Given the description of an element on the screen output the (x, y) to click on. 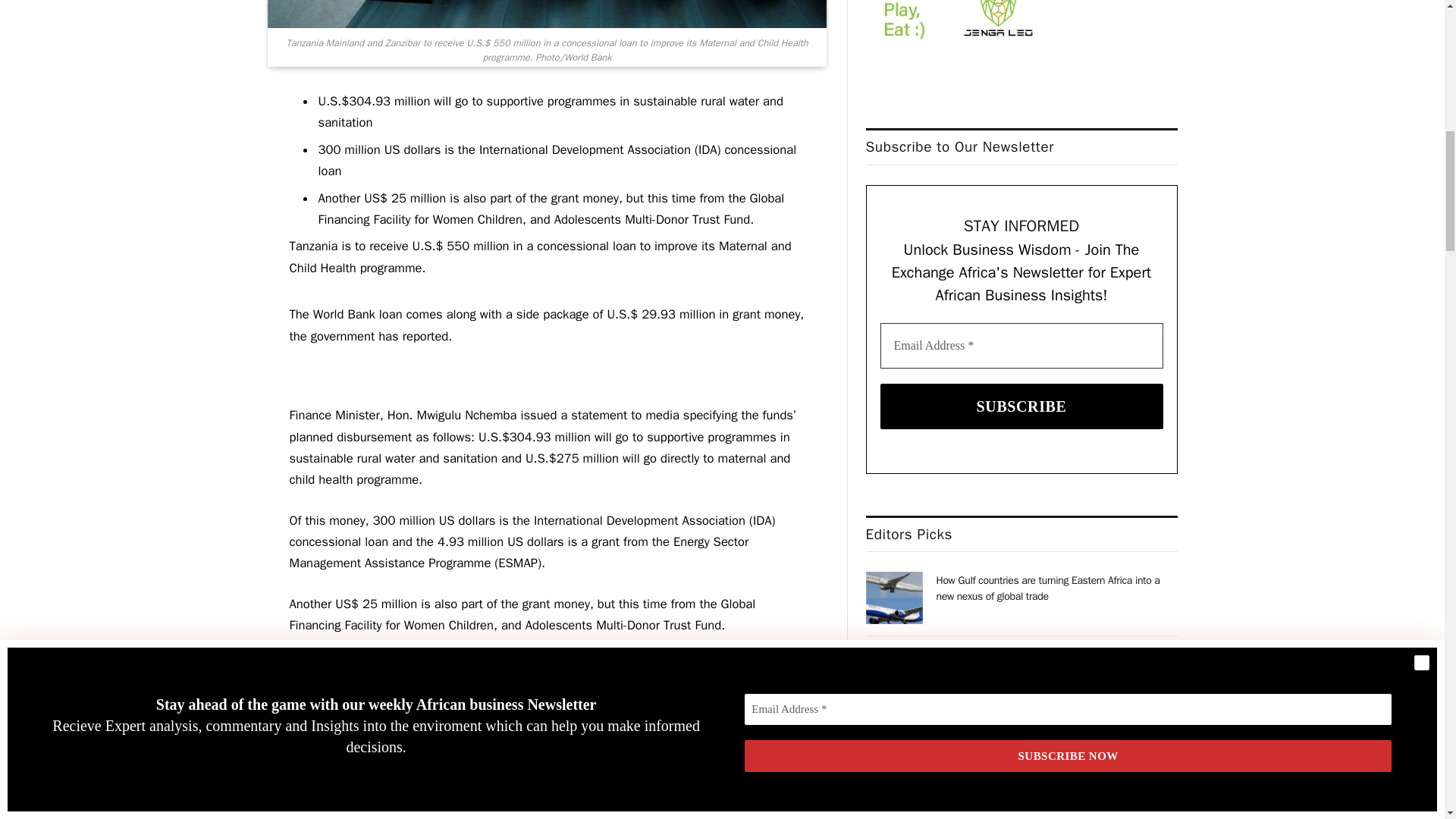
SUBSCRIBE (1021, 406)
